Given the description of an element on the screen output the (x, y) to click on. 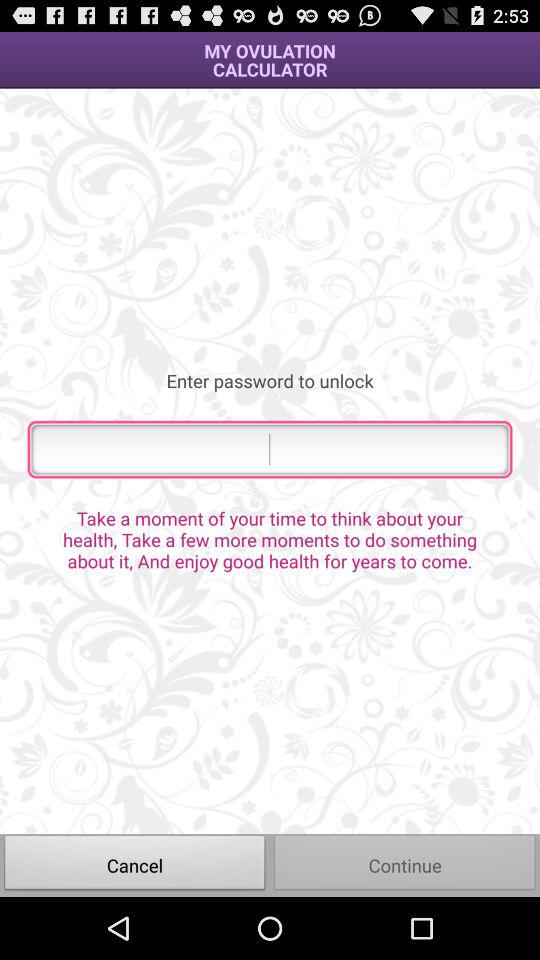
press the button next to cancel button (405, 864)
